Given the description of an element on the screen output the (x, y) to click on. 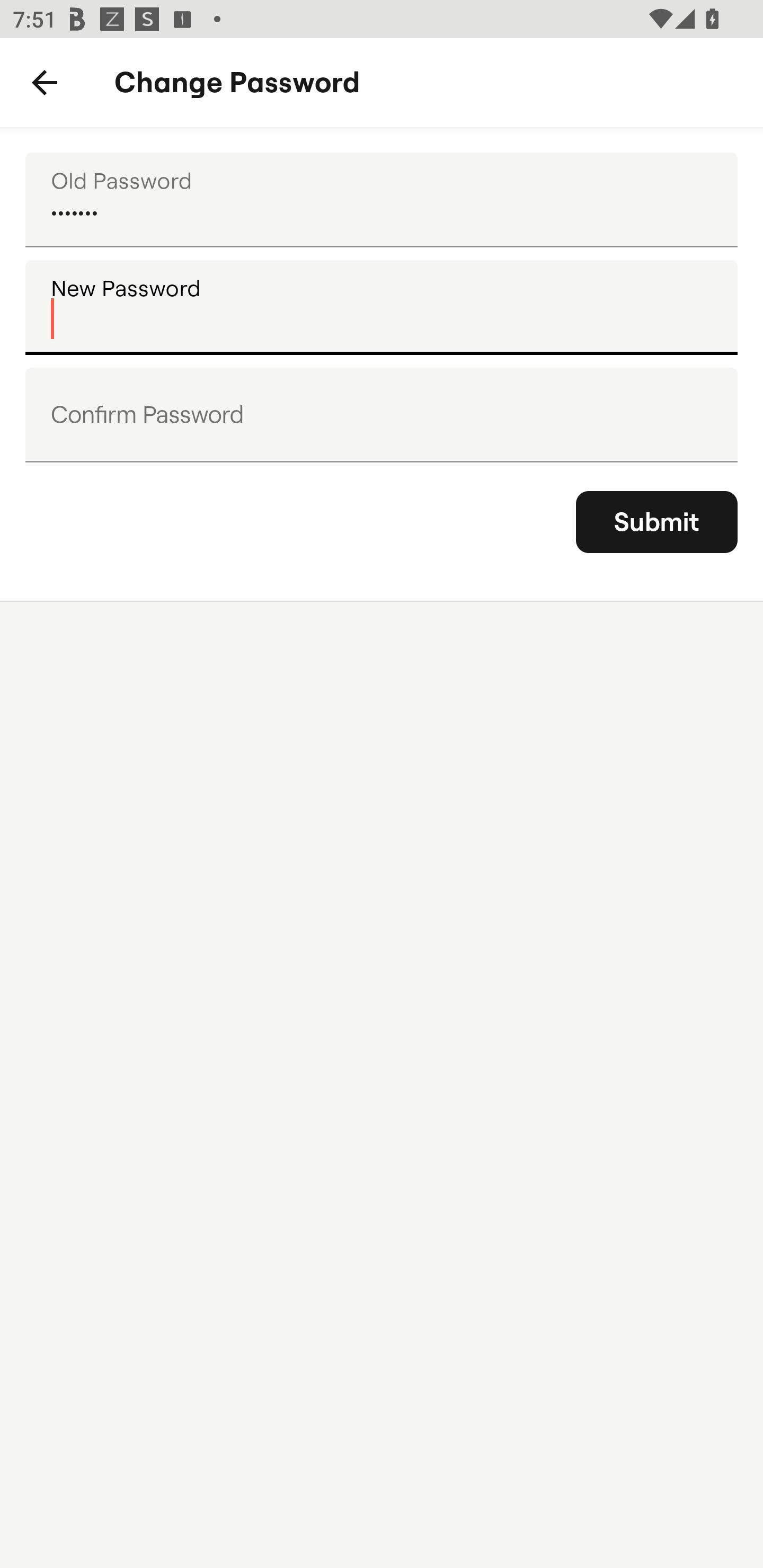
Back (44, 82)
Concert (381, 199)
New Password (381, 307)
Confirm Password (381, 414)
Submit (656, 521)
